Given the description of an element on the screen output the (x, y) to click on. 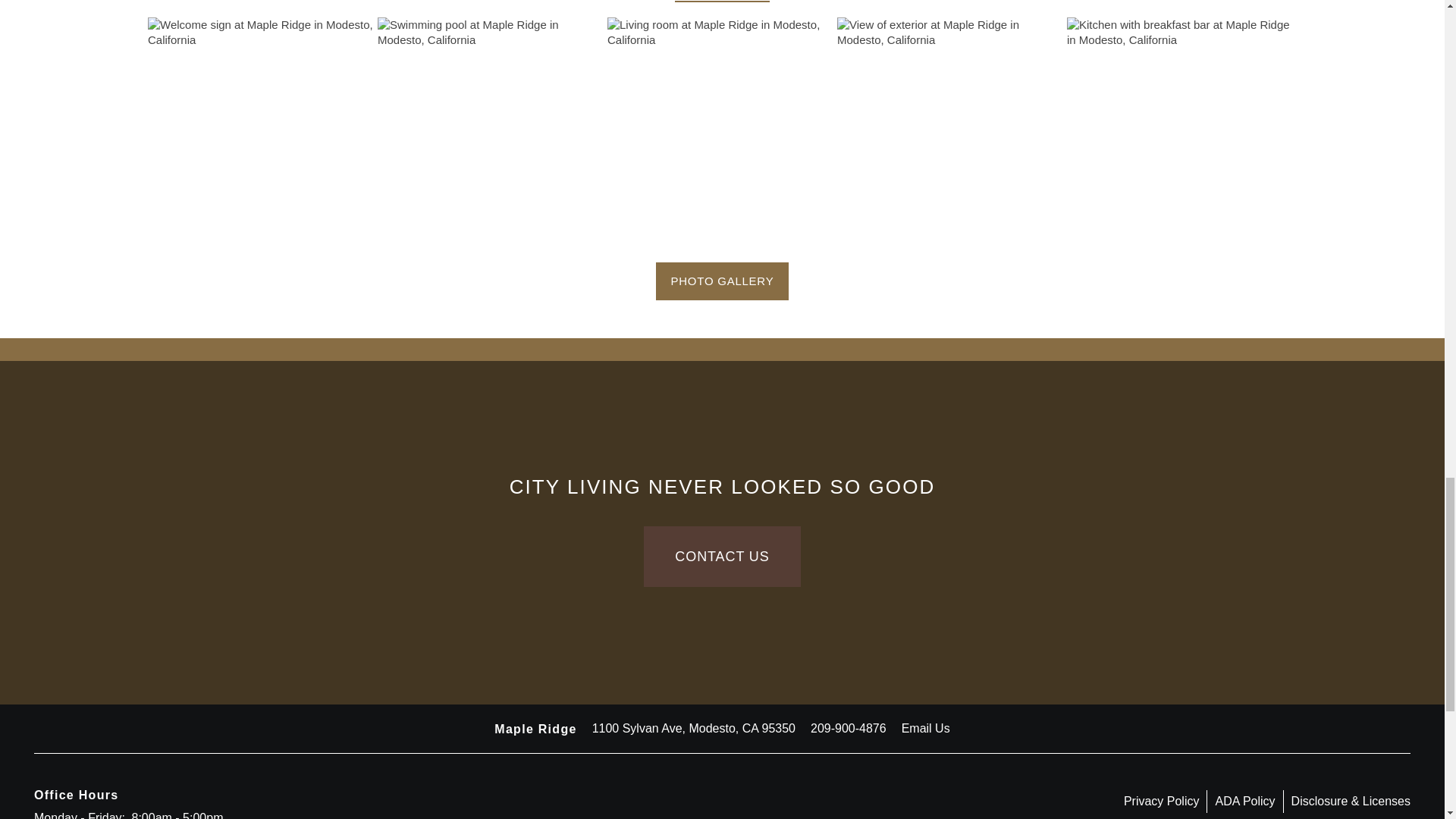
Property Phone Number (848, 728)
1100 Sylvan Ave, Modesto, CA 95350 (693, 728)
PHOTO GALLERY (722, 281)
209-900-4876 (848, 728)
Privacy Policy (1166, 801)
Email Us (925, 728)
ADA Policy (1248, 801)
CONTACT US (721, 556)
